Given the description of an element on the screen output the (x, y) to click on. 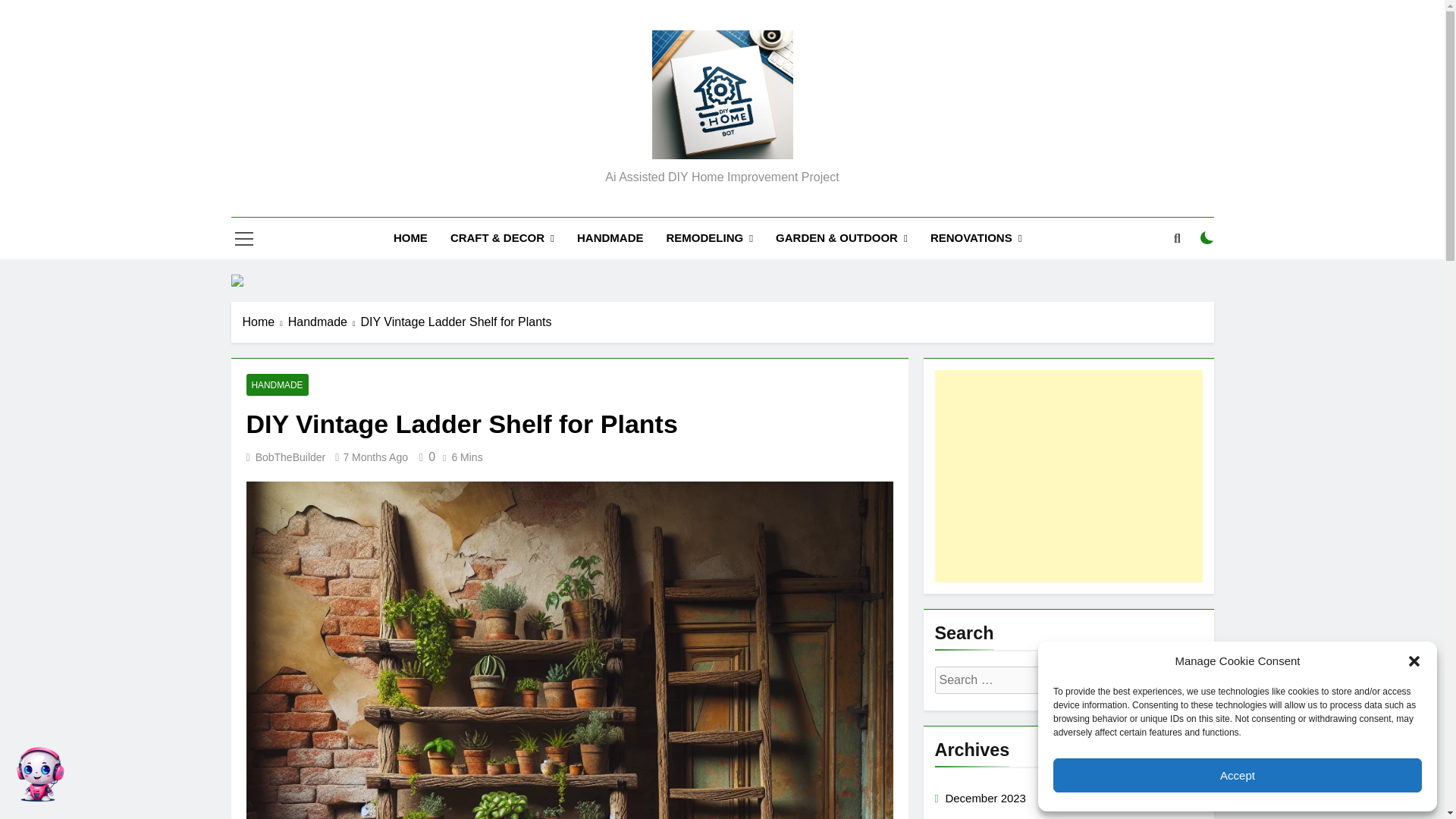
Search (1131, 680)
HANDMADE (610, 237)
Handmade (324, 321)
Advertisement (1068, 476)
HOME (410, 237)
Home (265, 321)
on (1206, 237)
HANDMADE (276, 384)
DIY Home Improvement With Ai (669, 181)
Search (1131, 680)
RENOVATIONS (975, 238)
REMODELING (708, 238)
Accept (1237, 775)
